Given the description of an element on the screen output the (x, y) to click on. 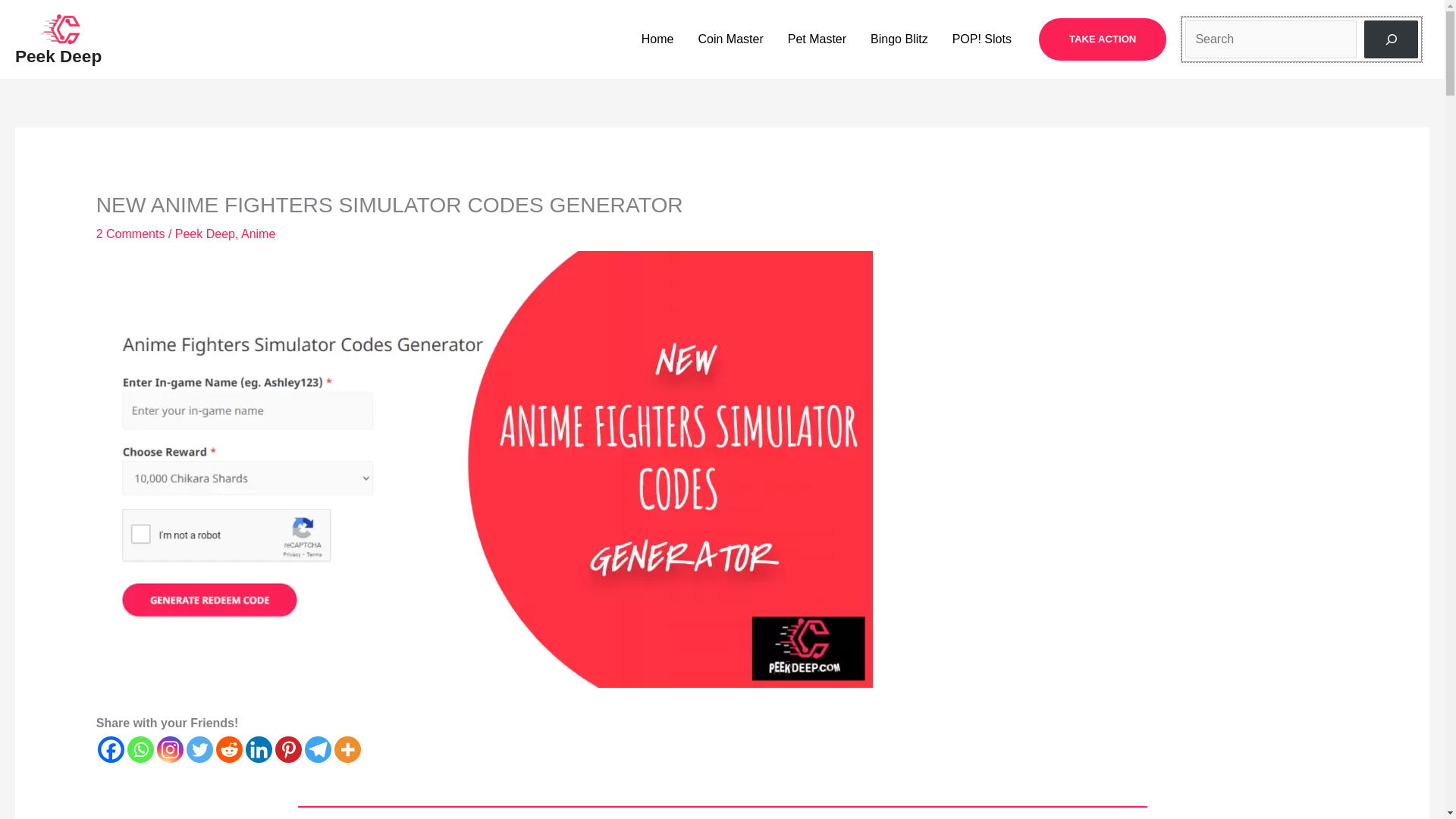
Facebook (110, 749)
Peek Deep (57, 56)
Bingo Blitz (899, 39)
2 Comments (130, 233)
Telegram (317, 749)
Twitter (199, 749)
Reddit (229, 749)
Home (656, 39)
Pet Master (817, 39)
Pinterest (288, 749)
Linkedin (259, 749)
Peek Deep (204, 233)
TAKE ACTION (1102, 39)
Instagram (170, 749)
